Given the description of an element on the screen output the (x, y) to click on. 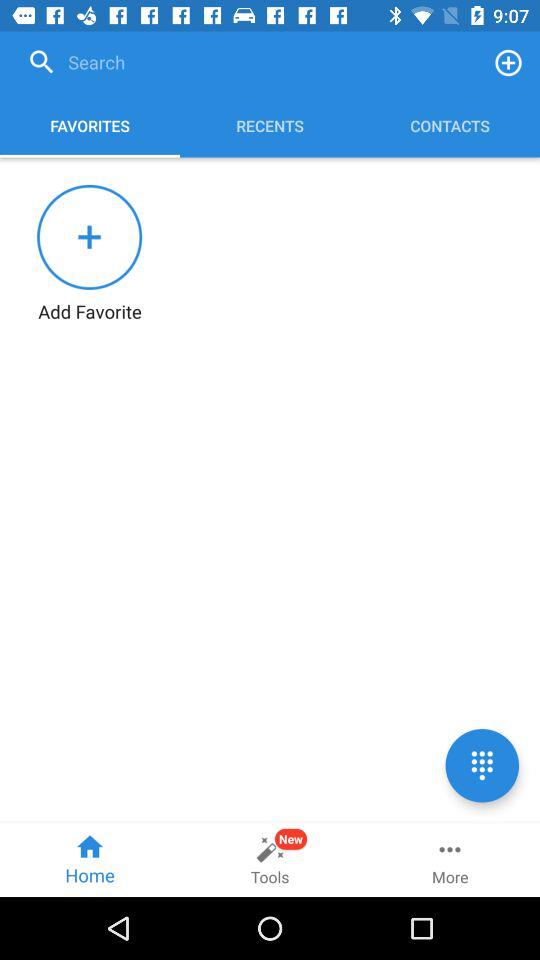
number pad option (482, 765)
